Given the description of an element on the screen output the (x, y) to click on. 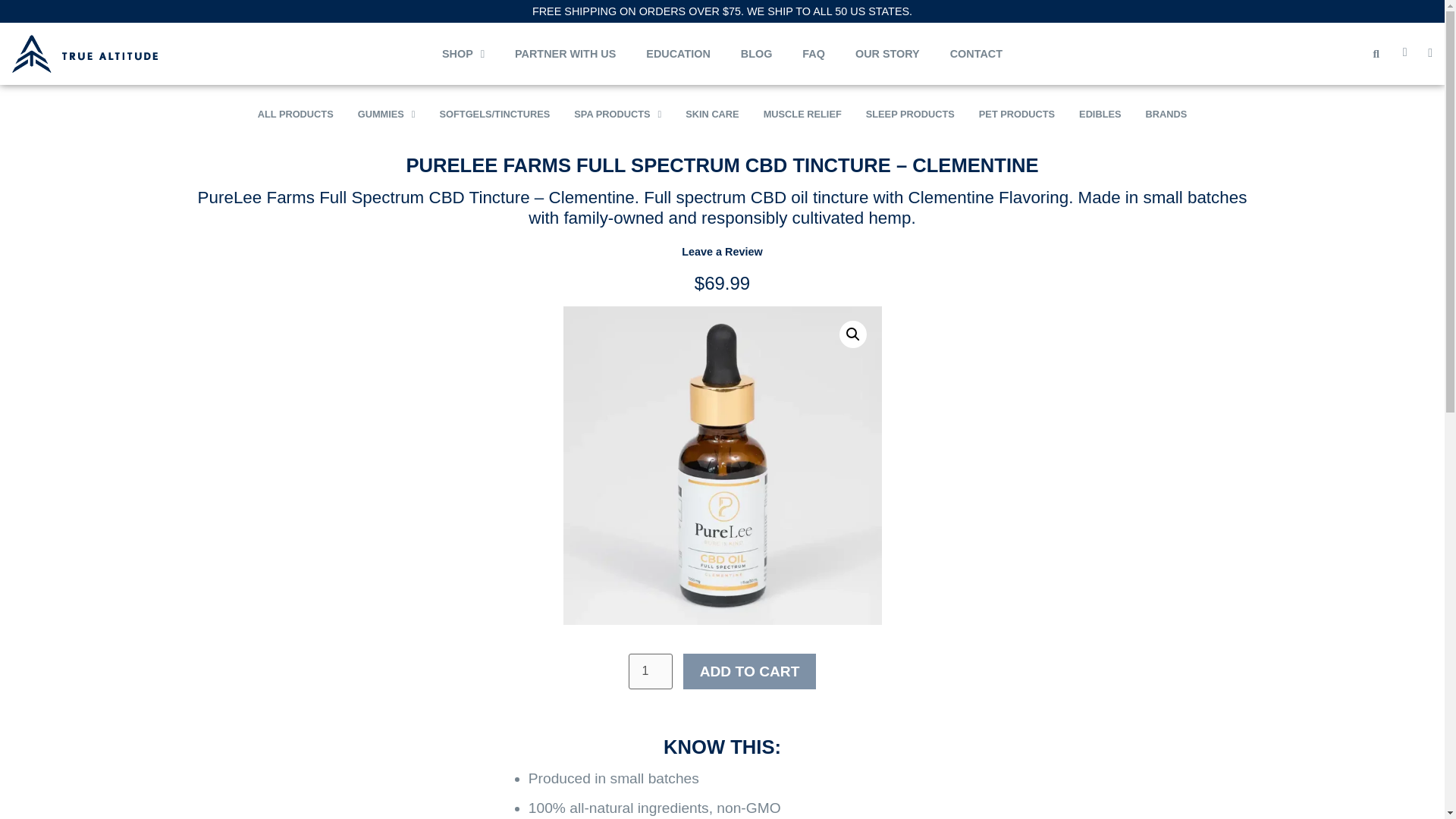
CONTACT (975, 53)
OUR STORY (887, 53)
EDUCATION (677, 53)
1 (650, 671)
FAQ (813, 53)
PARTNER WITH US (564, 53)
PureLee Farms Full Spectrum CBD Tincture - Clementine (721, 465)
BLOG (756, 53)
SHOP (462, 53)
